Given the description of an element on the screen output the (x, y) to click on. 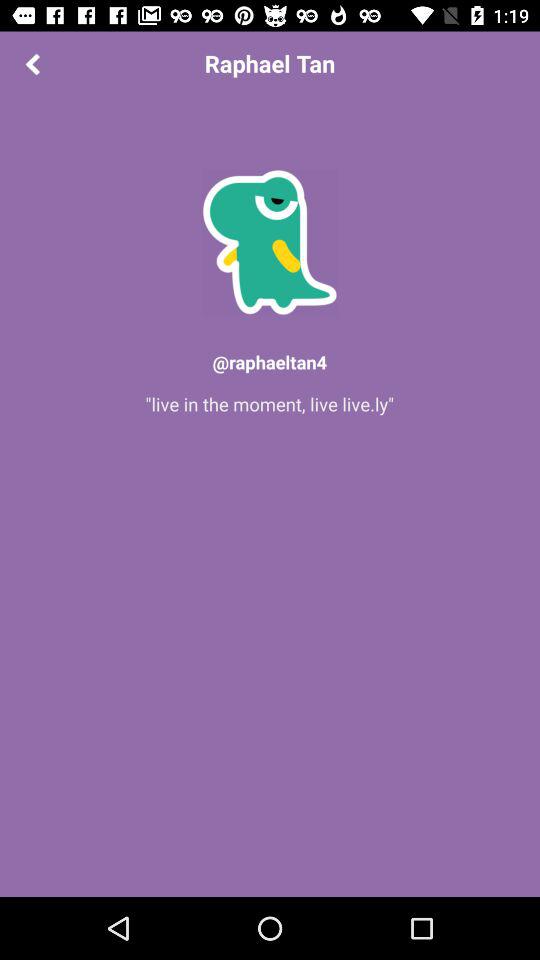
back button (32, 63)
